Given the description of an element on the screen output the (x, y) to click on. 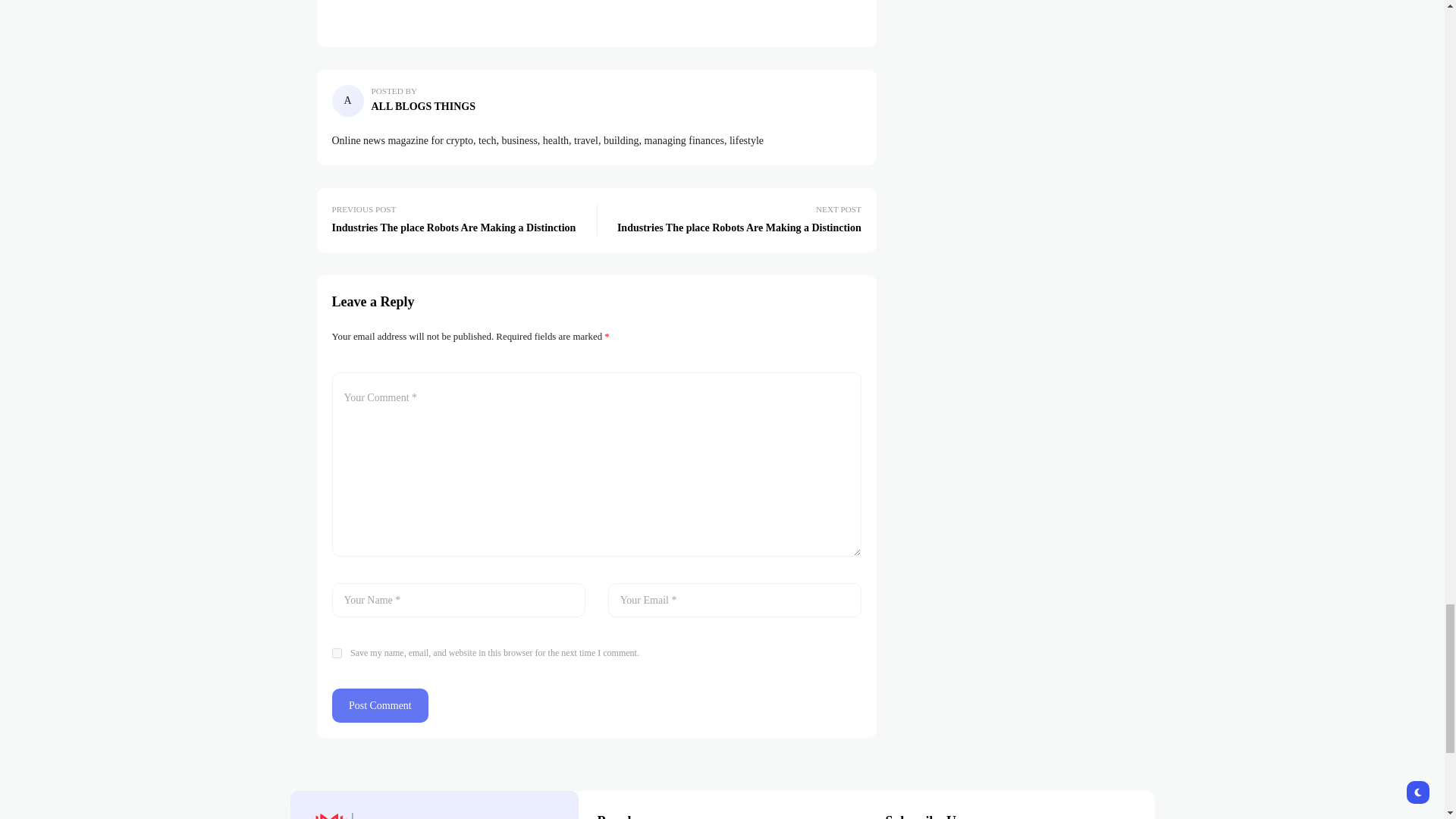
Post Comment (380, 705)
yes (336, 653)
